Given the description of an element on the screen output the (x, y) to click on. 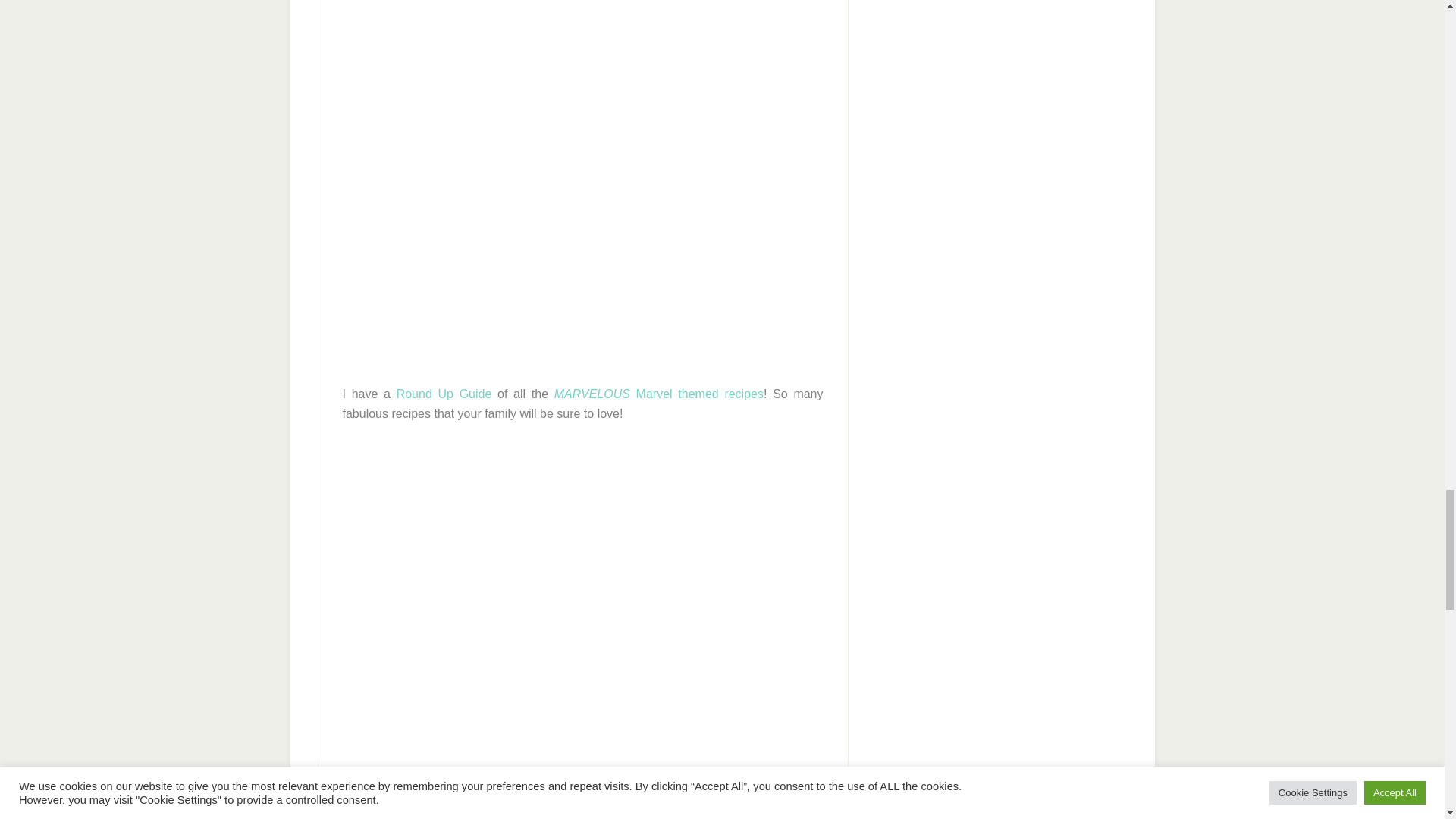
MARVELOUS Marvel themed recipes (658, 393)
Round Up Guide (444, 393)
